Given the description of an element on the screen output the (x, y) to click on. 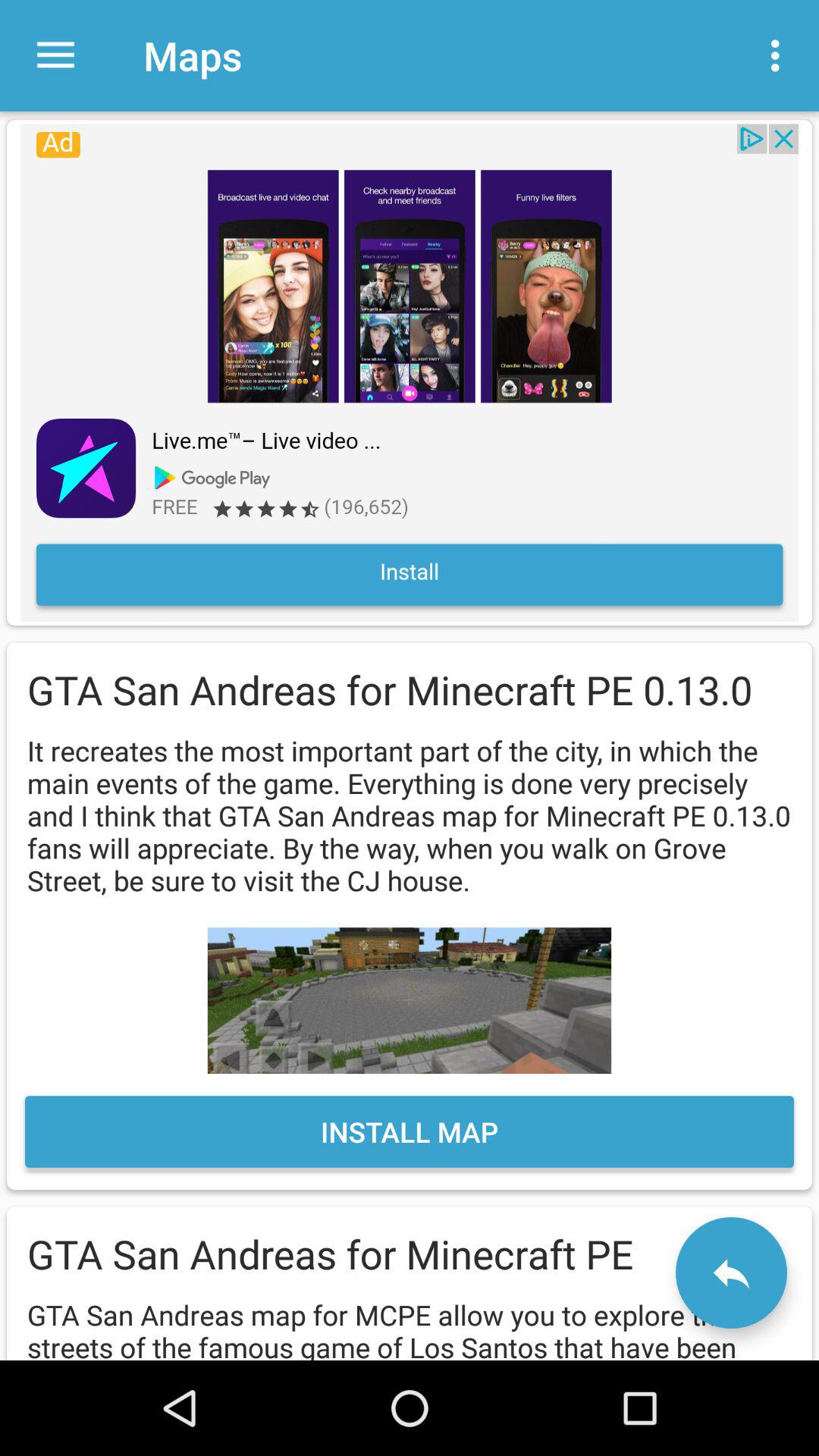
go next (731, 1272)
